Given the description of an element on the screen output the (x, y) to click on. 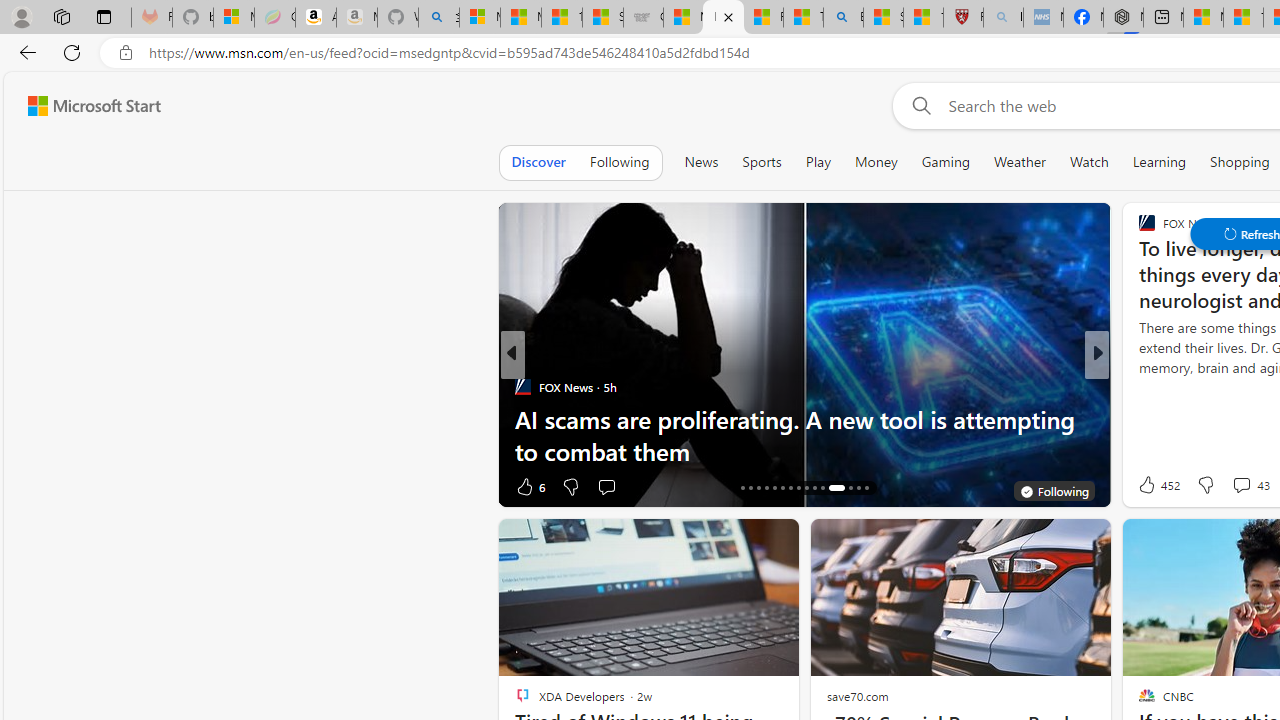
AutomationID: tab-27 (836, 487)
AutomationID: tab-16 (742, 487)
AutomationID: tab-22 (789, 487)
AutomationID: tab-23 (797, 487)
AutomationID: tab-19 (765, 487)
